Given the description of an element on the screen output the (x, y) to click on. 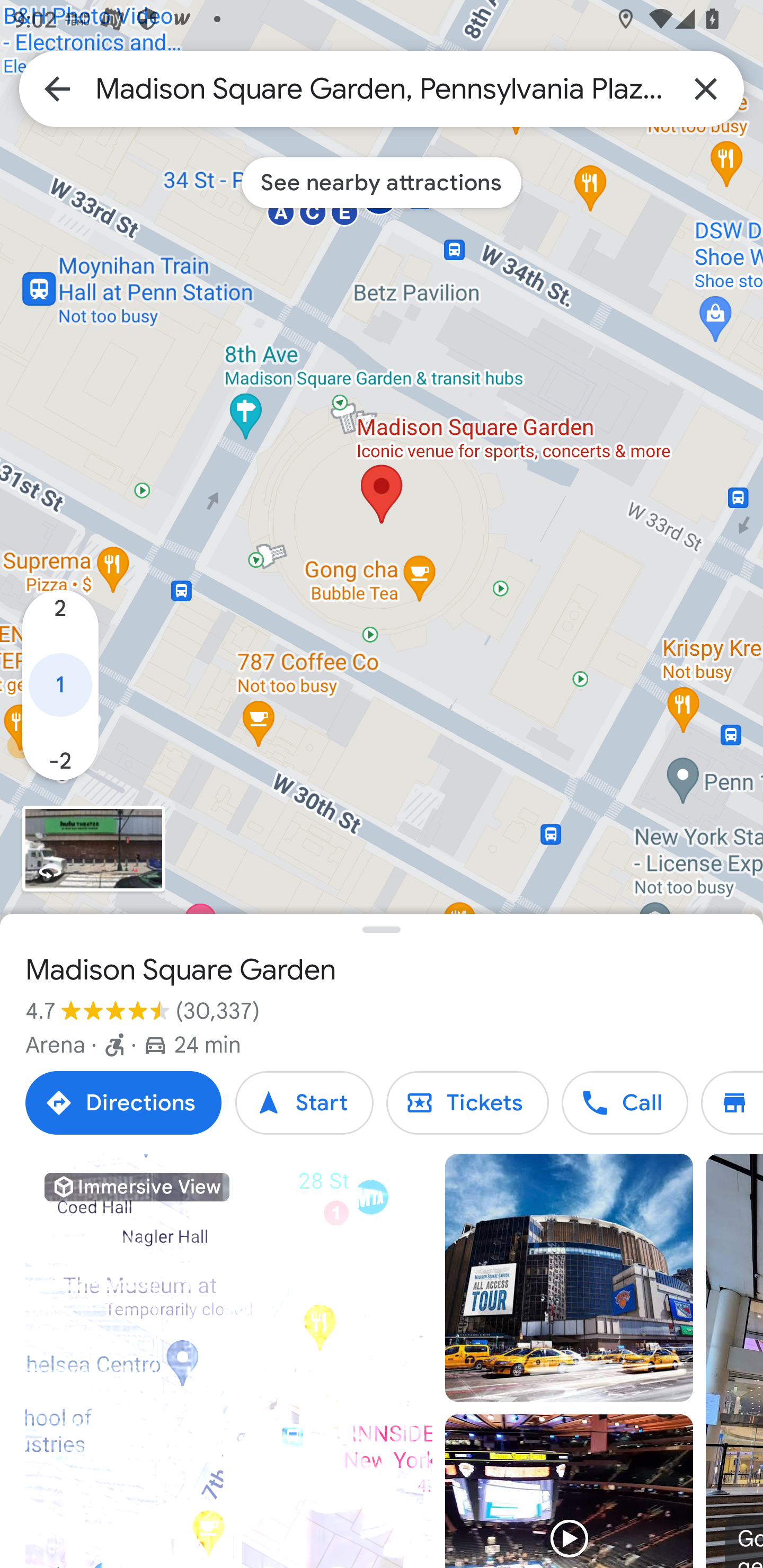
Back (57, 88)
Clear (705, 88)
See nearby attractions (381, 182)
Level 2 2 (60, 617)
Level 1 1 (60, 684)
Level -2 -2 (60, 751)
View Street view imagery for Madison Square Garden (93, 848)
Start Start Start (304, 1102)
Tickets (467, 1102)
Directory Directory Directory (732, 1102)
Video Immersive View (228, 1361)
Photo (568, 1277)
Video (568, 1491)
